Given the description of an element on the screen output the (x, y) to click on. 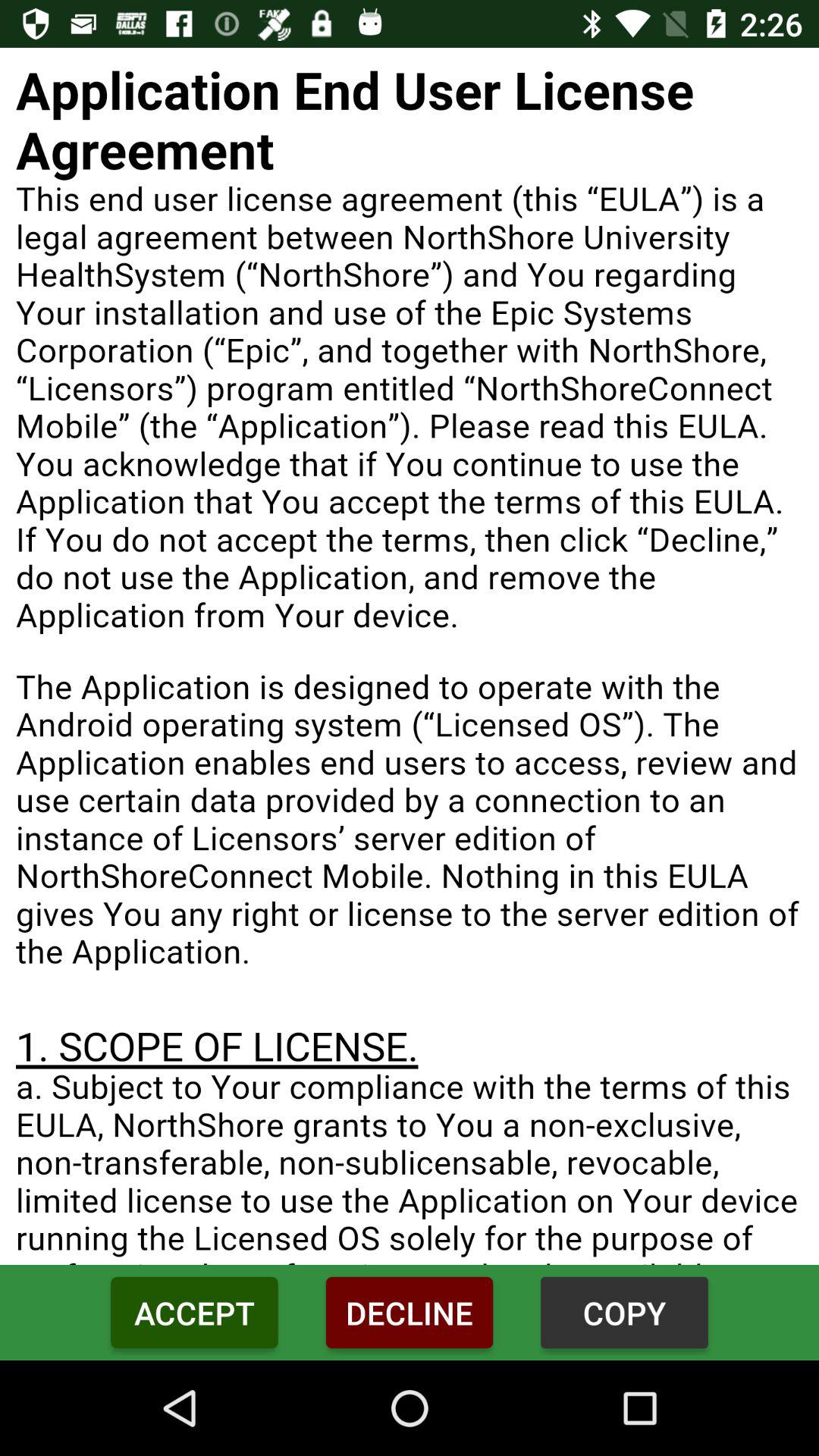
select screen (409, 655)
